Given the description of an element on the screen output the (x, y) to click on. 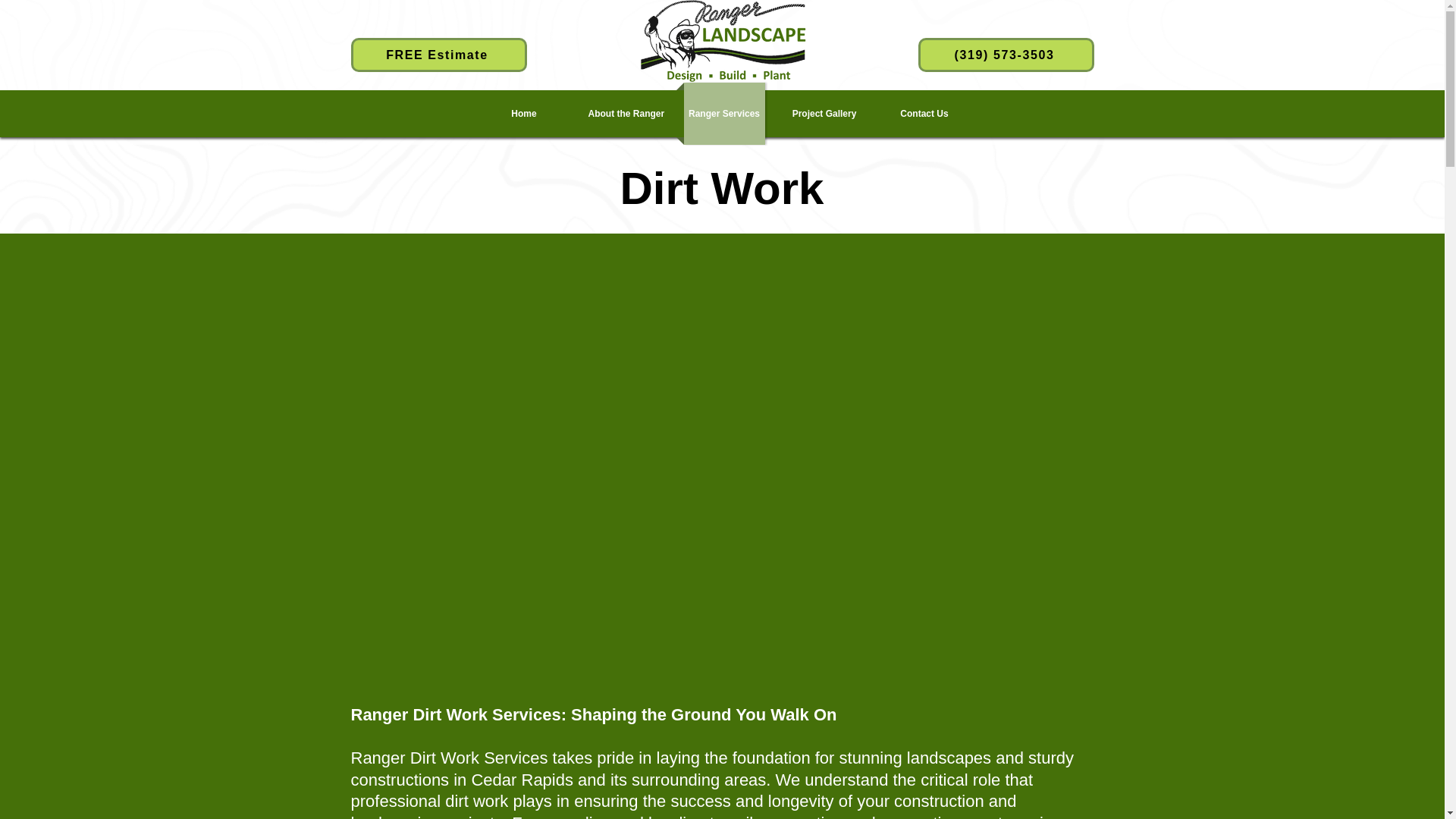
Ranger Services (725, 113)
Contact Us (924, 113)
Home (524, 113)
About the Ranger (624, 113)
Project Gallery (824, 113)
FREE Estimate (437, 54)
